Given the description of an element on the screen output the (x, y) to click on. 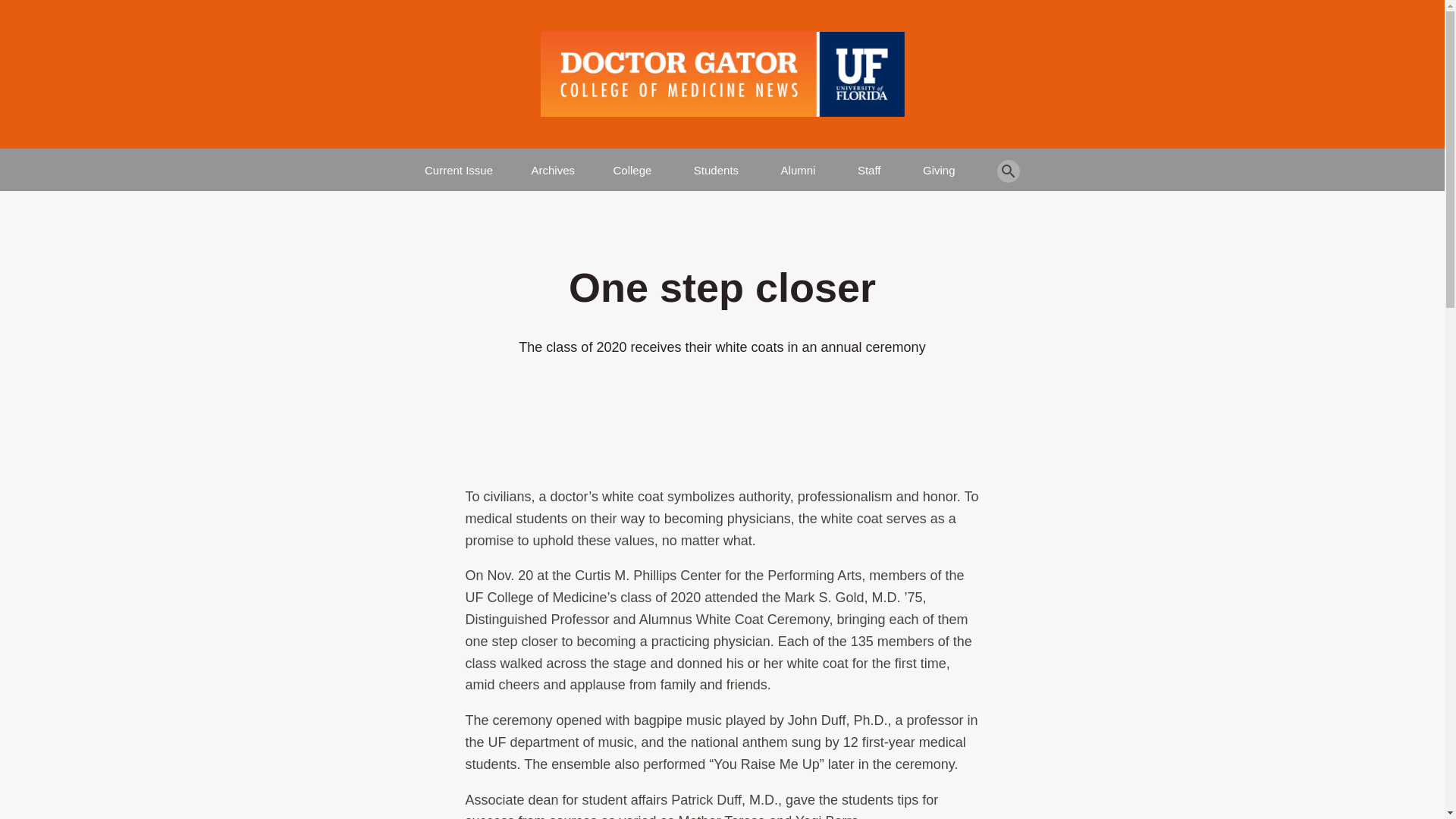
Archives (553, 163)
Alumni (797, 163)
Giving (939, 163)
College (631, 163)
Doctor Gator - Home (722, 74)
Students (716, 163)
Current Issue (459, 163)
